Given the description of an element on the screen output the (x, y) to click on. 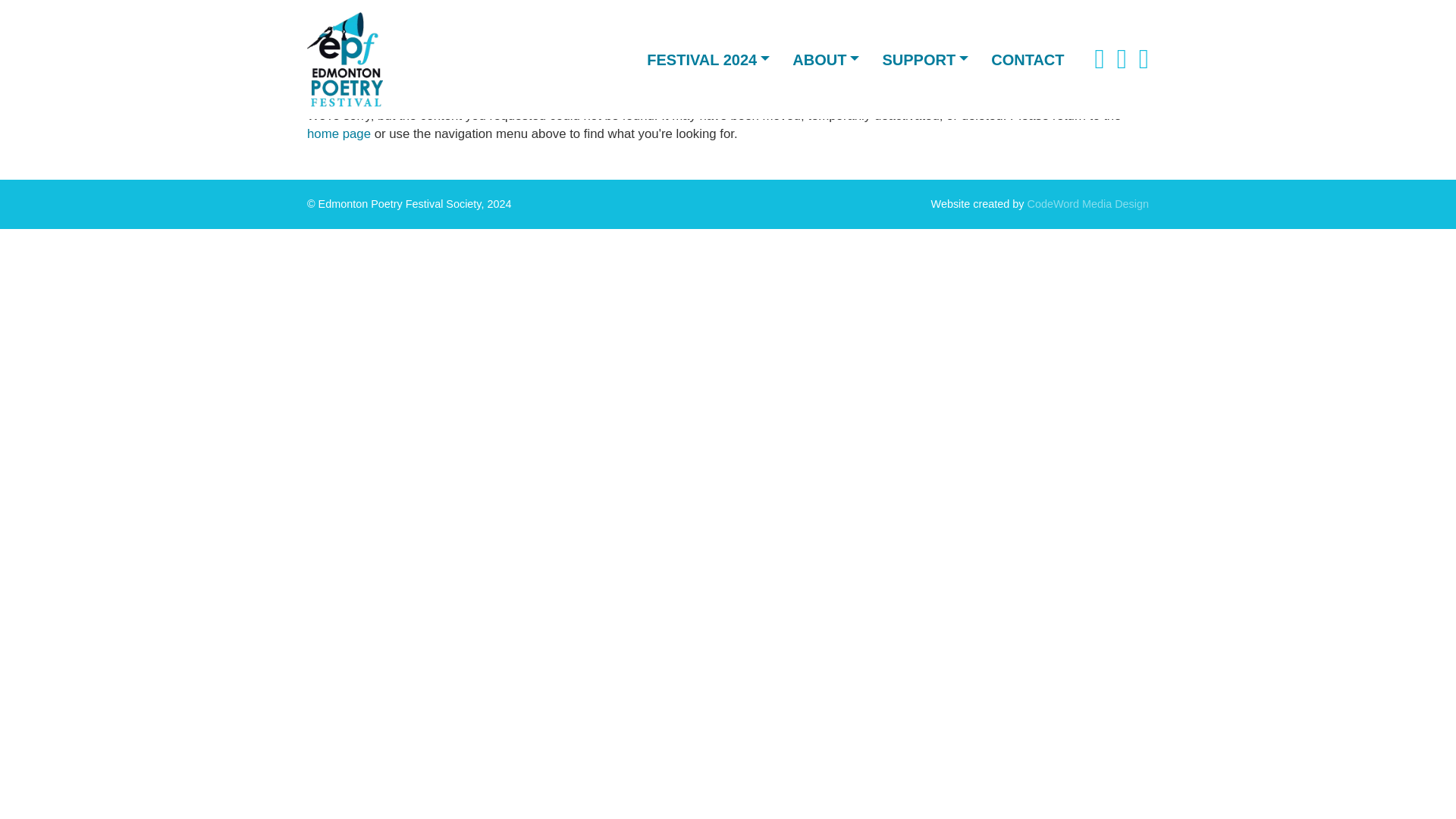
CONTACT (1027, 58)
Support (925, 58)
CodeWord Media Design (1087, 203)
Edmonton Poetry Festival (344, 58)
SUPPORT (925, 58)
home page (339, 133)
FESTIVAL 2024 (708, 58)
Contact (1027, 58)
ABOUT (825, 58)
About (825, 58)
